Given the description of an element on the screen output the (x, y) to click on. 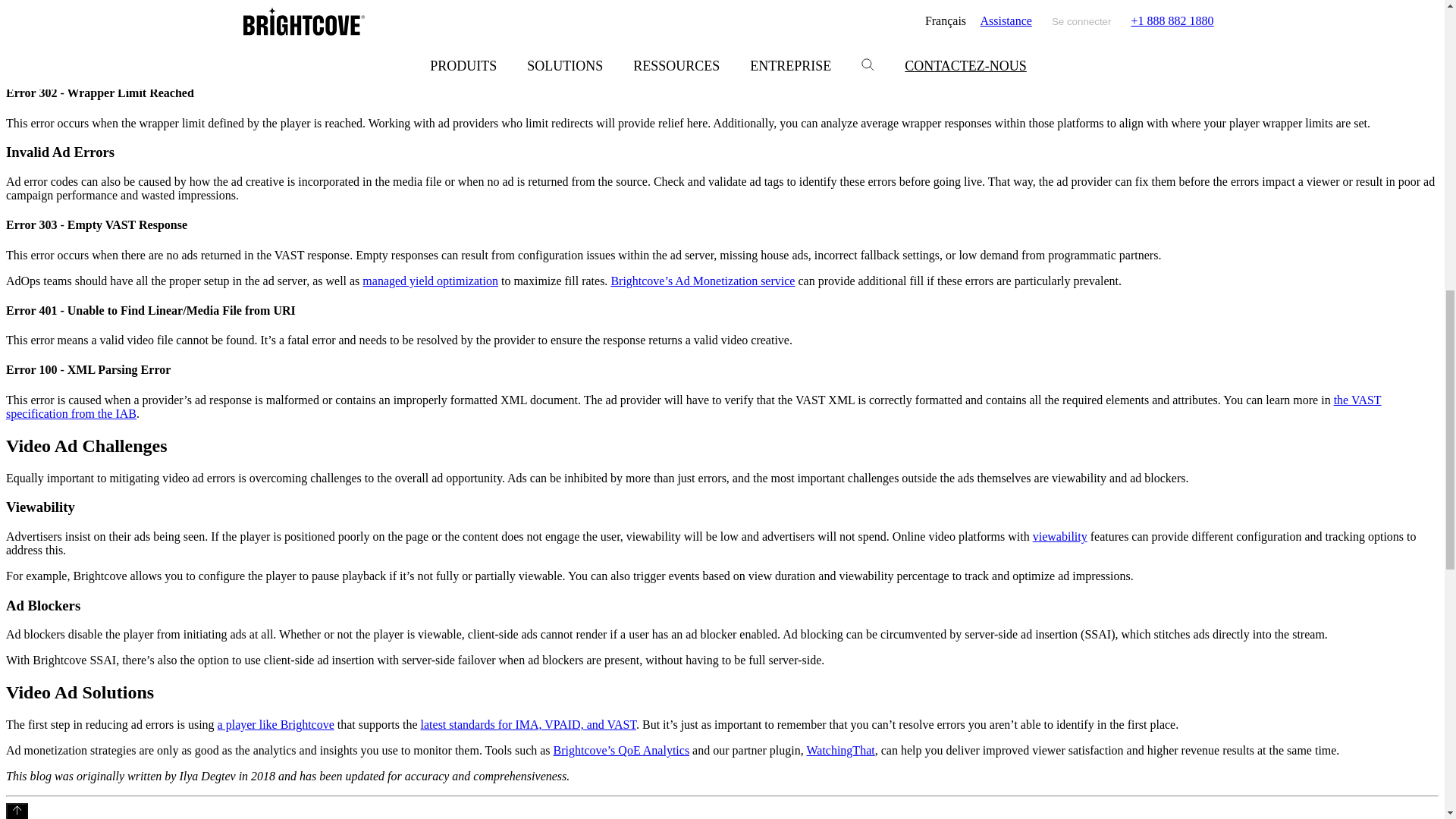
Integrate with WatchingThat on the Brightcove Marketplace (840, 749)
WatchingThat (840, 749)
What Makes a Great Online Video Player? (275, 724)
managed yield optimization (429, 280)
Making QoE Actionable for Video Streaming (621, 749)
Brightcove's Viewability Features (1059, 535)
the VAST specification from the IAB (693, 406)
viewability (1059, 535)
Introducing Brightcove Ad Monetization (702, 280)
latest standards for IMA, VPAID, and VAST (528, 724)
Ad Workflow with Brightcove Player (528, 724)
Yield Optimization That Doesn't Lose Engagement (429, 280)
a player like Brightcove (275, 724)
